Given the description of an element on the screen output the (x, y) to click on. 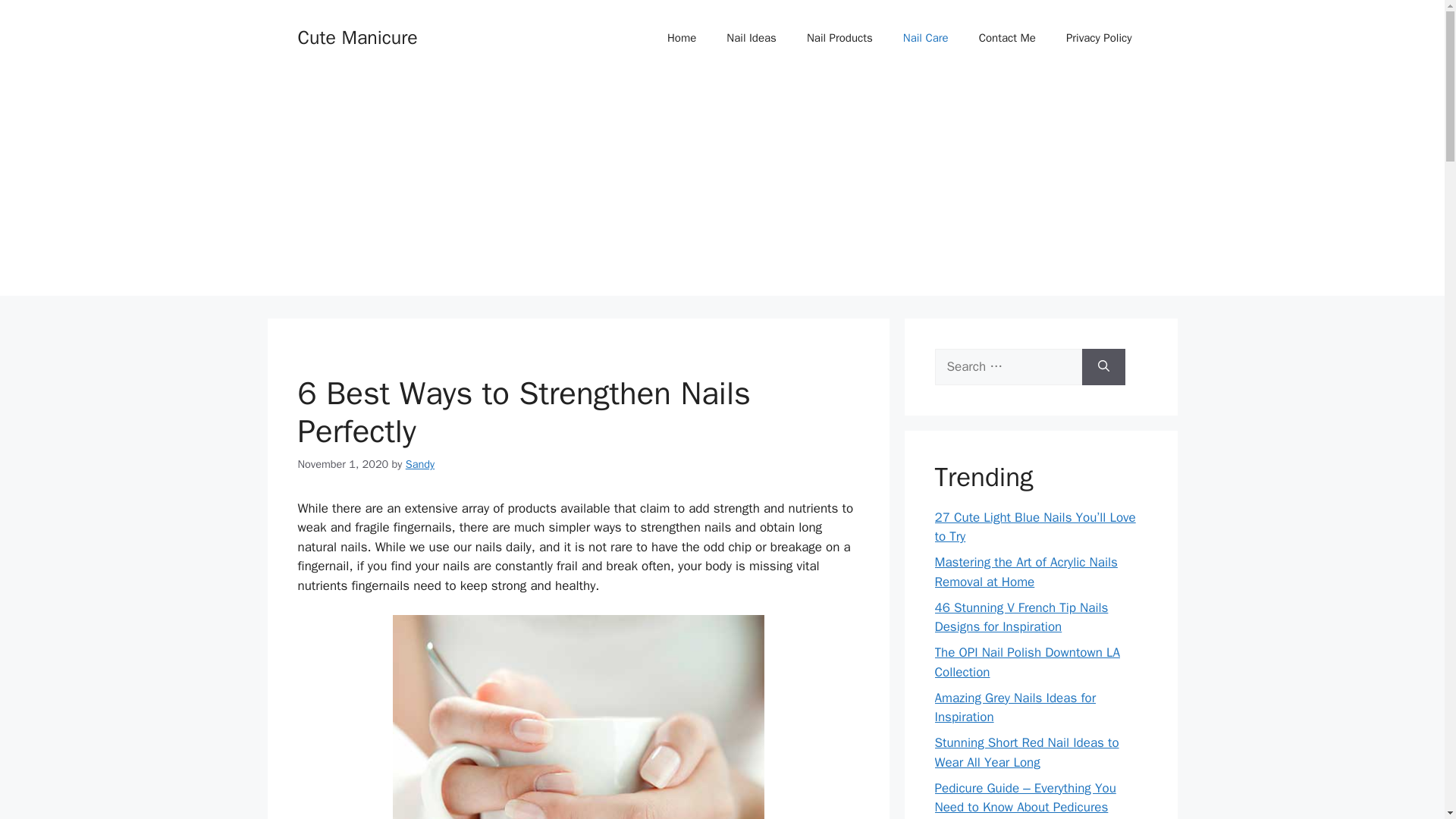
46 Stunning V French Tip Nails Designs for Inspiration (1021, 616)
Search for: (1007, 366)
The OPI Nail Polish Downtown LA Collection (1026, 662)
Sandy (419, 463)
Home (681, 37)
View all posts by Sandy (419, 463)
Privacy Policy (1099, 37)
Cute Manicure (356, 37)
Best Ways to Strengthen Nails Perfectly (578, 717)
Stunning Short Red Nail Ideas to Wear All Year Long (1026, 752)
Contact Me (1007, 37)
Nail Ideas (751, 37)
Nail Care (925, 37)
Mastering the Art of Acrylic Nails Removal at Home (1025, 571)
